Given the description of an element on the screen output the (x, y) to click on. 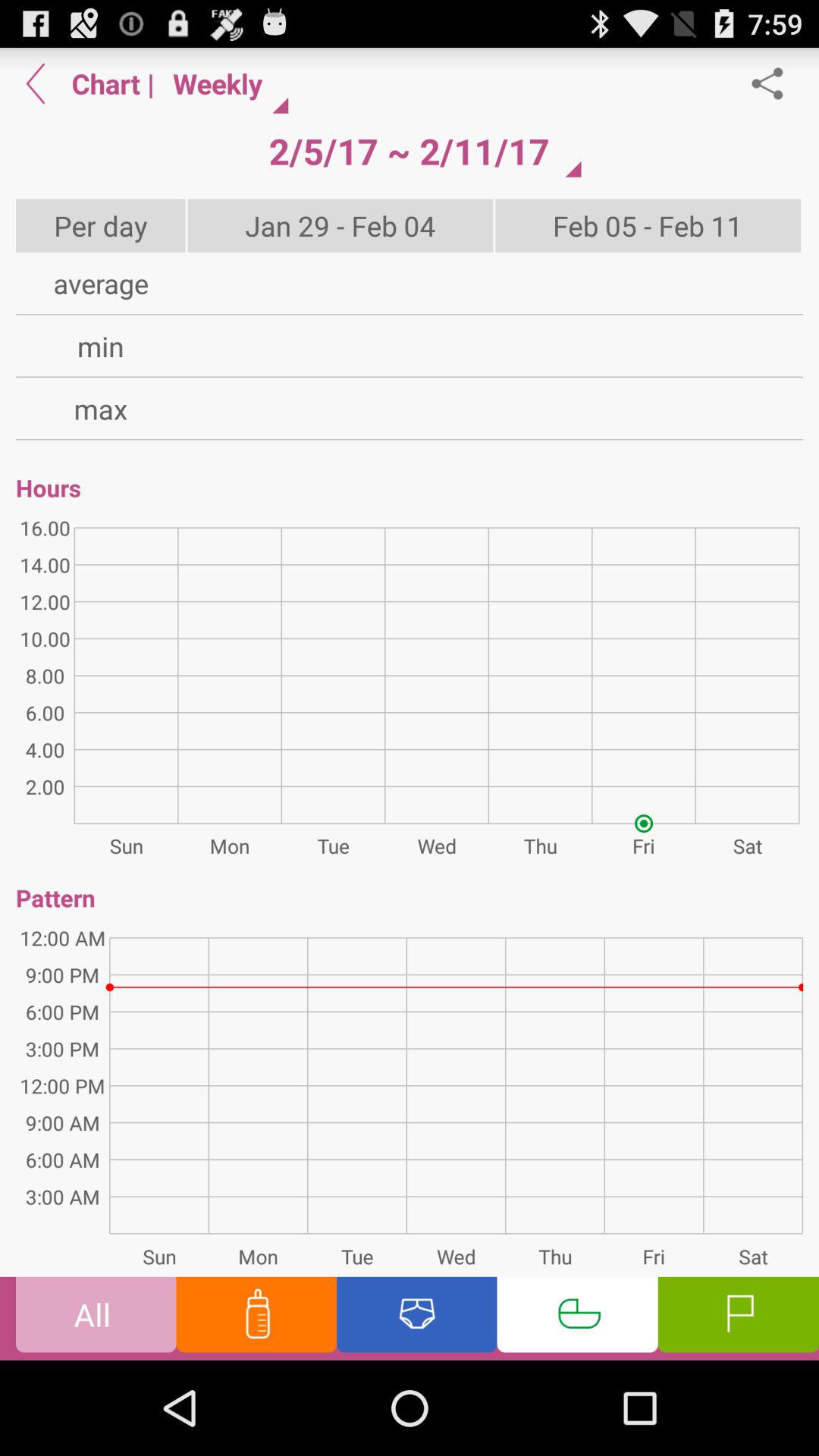
turn on icon to the right of  |  item (409, 151)
